Given the description of an element on the screen output the (x, y) to click on. 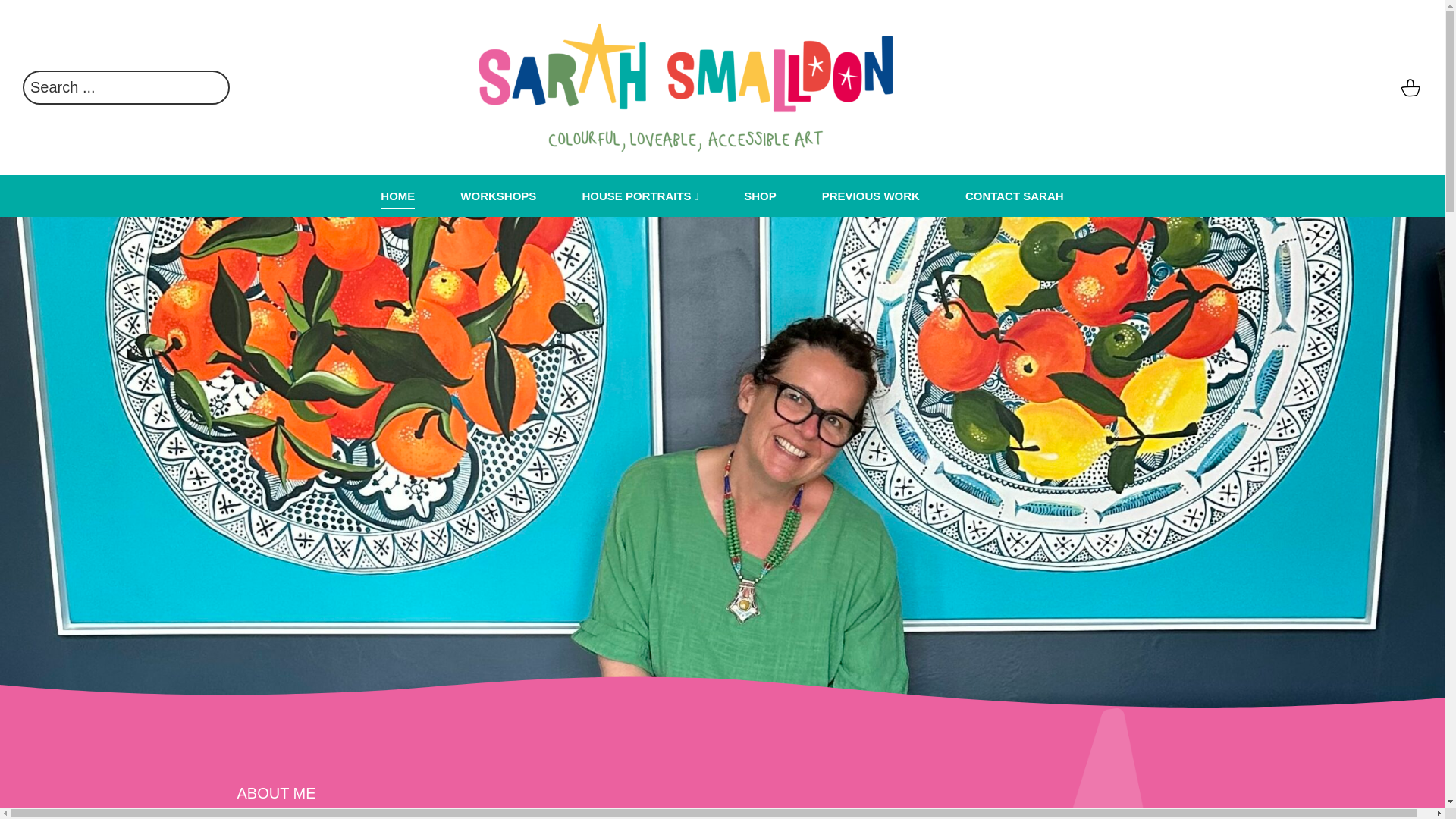
SHOP (760, 195)
PREVIOUS WORK (871, 195)
basket alt (1410, 87)
CONTACT SARAH (1014, 195)
WORKSHOPS (497, 195)
HOME (397, 195)
